Given the description of an element on the screen output the (x, y) to click on. 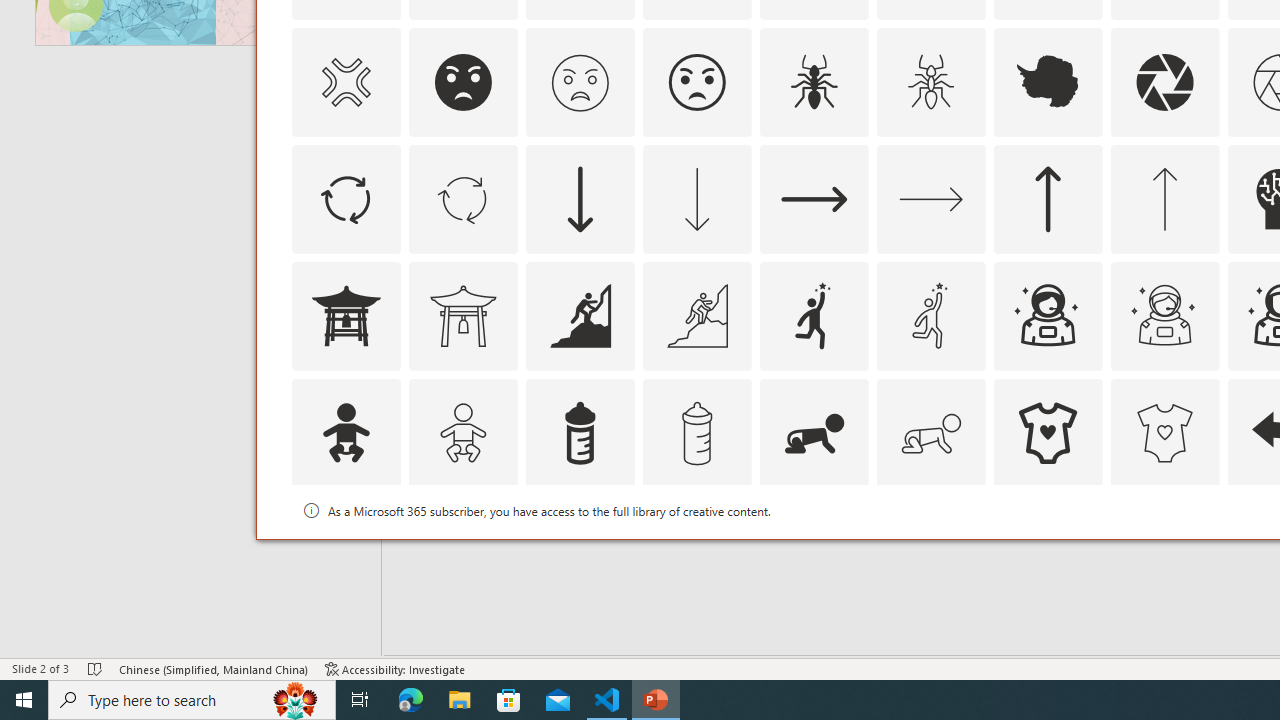
AutomationID: Icons_AsianTemple1_M (463, 316)
